Given the description of an element on the screen output the (x, y) to click on. 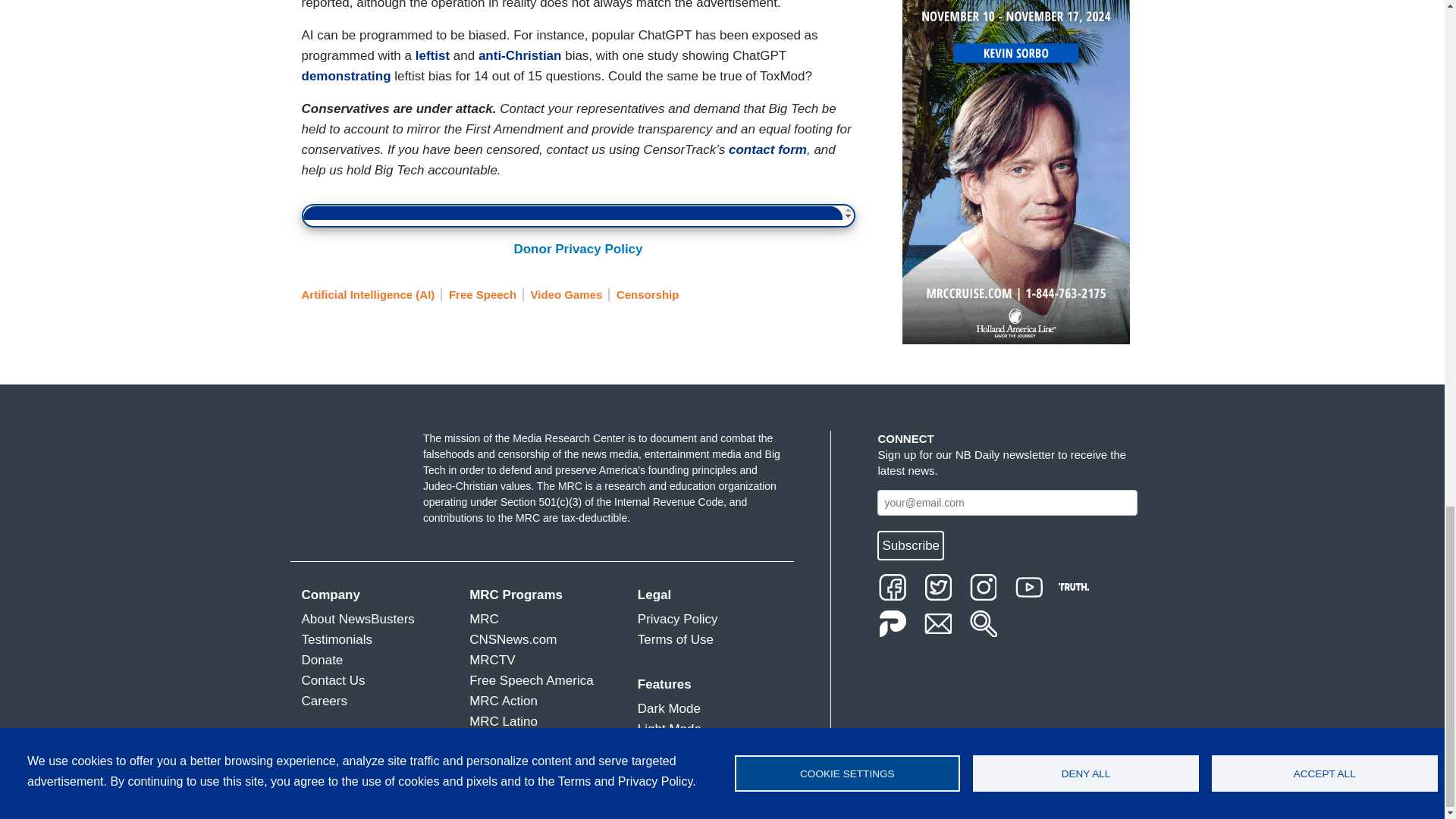
Giving Form (577, 213)
